Given the description of an element on the screen output the (x, y) to click on. 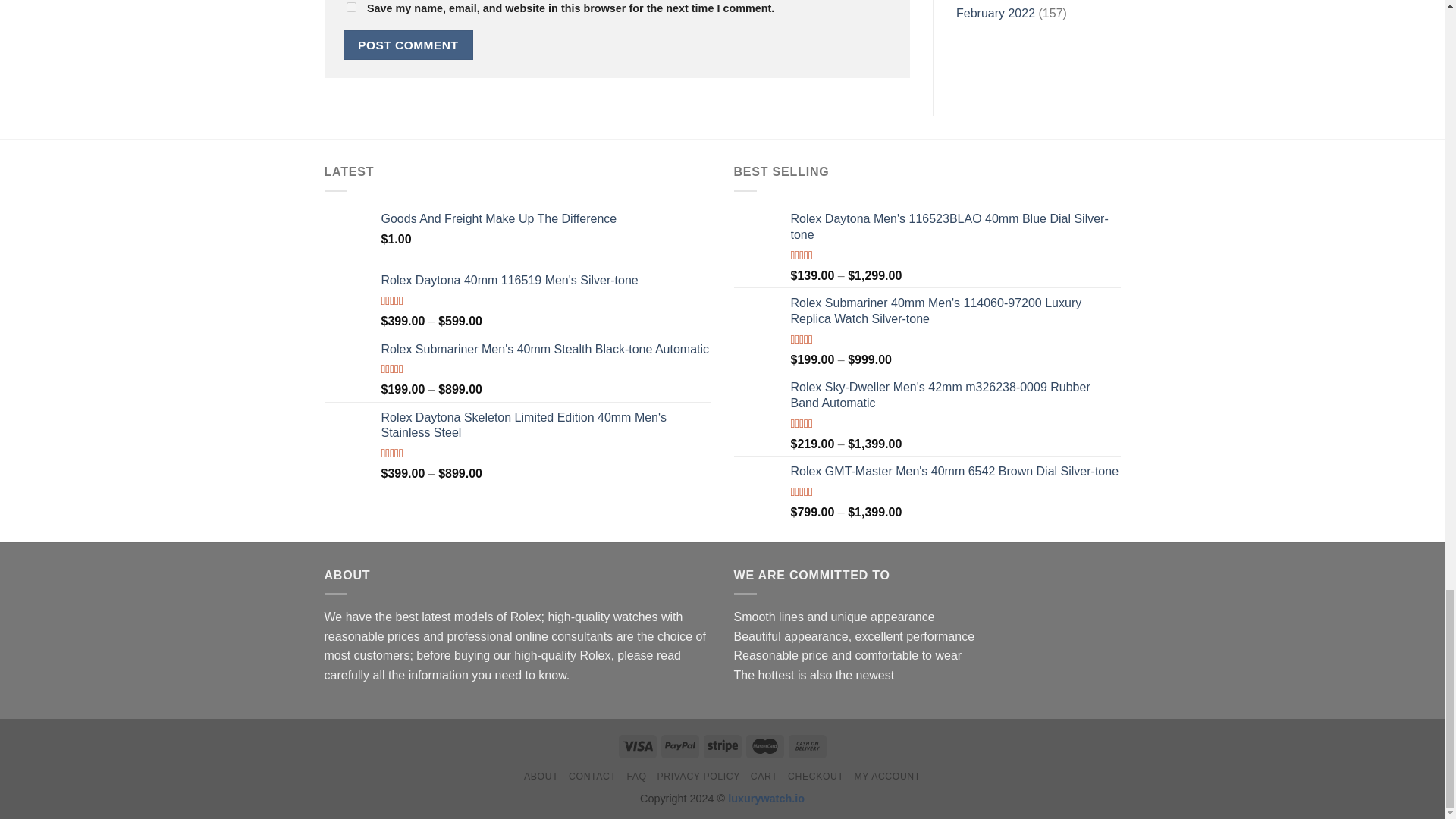
yes (350, 7)
Post Comment (407, 44)
